Given the description of an element on the screen output the (x, y) to click on. 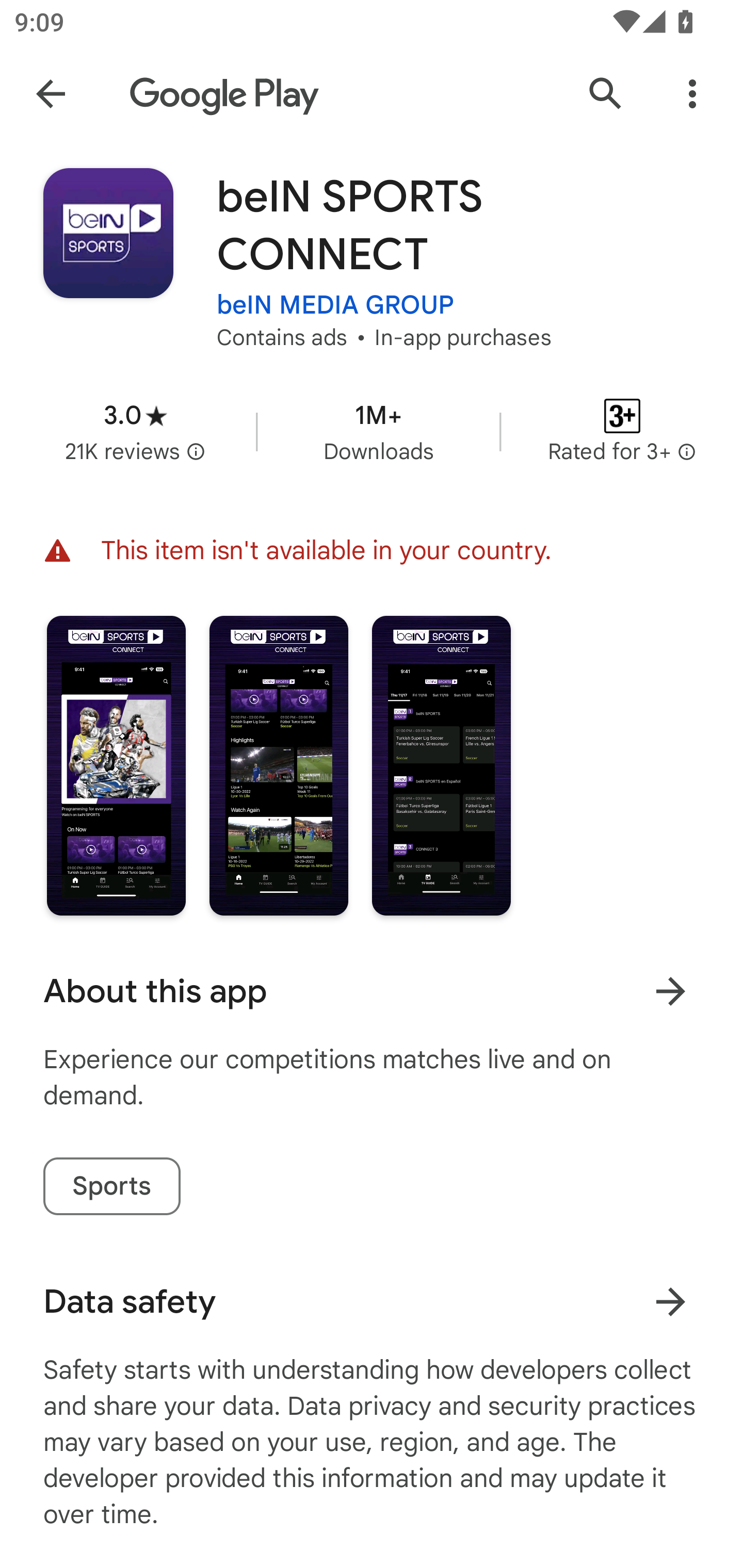
Navigate up (50, 93)
Search Google Play (605, 93)
More Options (692, 93)
beIN MEDIA GROUP (334, 304)
Average rating 3.0 stars in 21 thousand reviews (135, 431)
Content rating Rated for 3+ (622, 431)
Screenshot "1" of "3" (115, 765)
Screenshot "2" of "3" (278, 765)
Screenshot "3" of "3" (441, 765)
About this app Learn more About this app (371, 990)
Learn more About this app (670, 991)
Sports tag (111, 1186)
Data safety Learn more about data safety (371, 1301)
Learn more about data safety (670, 1302)
